Given the description of an element on the screen output the (x, y) to click on. 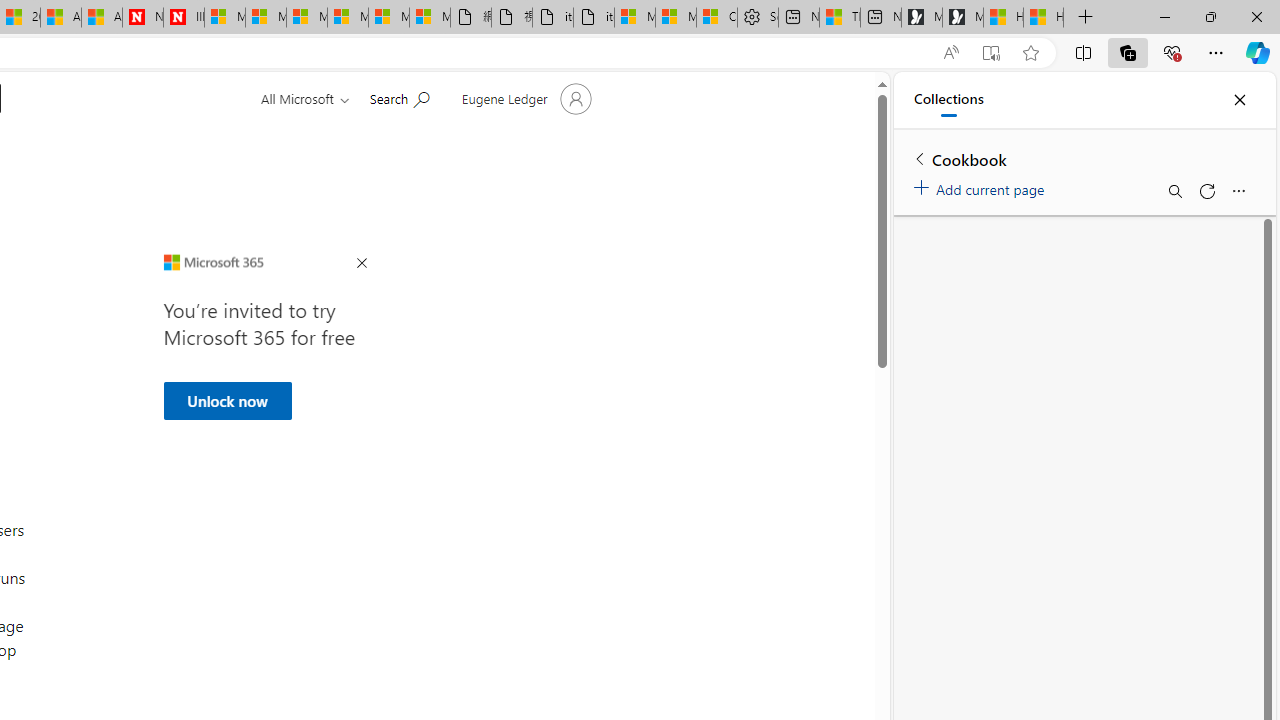
Illness news & latest pictures from Newsweek.com (183, 17)
Microsoft Start Gaming (963, 17)
Collections (948, 99)
More options menu (1238, 190)
Three Ways To Stop Sweating So Much (840, 17)
Browser essentials (1171, 52)
Read aloud this page (Ctrl+Shift+U) (950, 53)
Account manager for Eugene Ledger (524, 98)
Consumer Health Data Privacy Policy (717, 17)
Copilot (Ctrl+Shift+.) (1258, 52)
Microsoft account | Privacy (675, 17)
Restore (1210, 16)
